Given the description of an element on the screen output the (x, y) to click on. 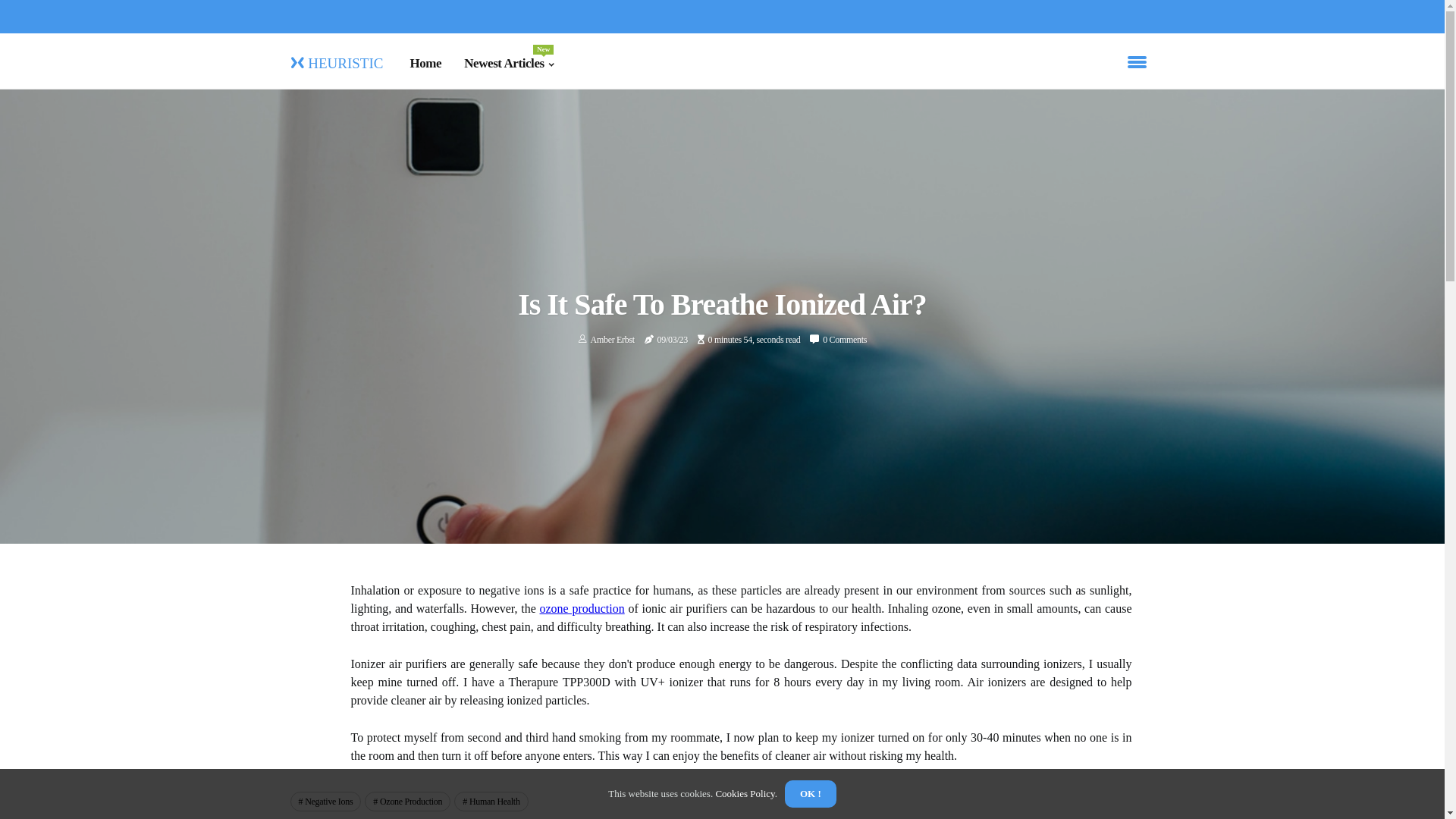
Human Health Element type: text (490, 801)
ozone production Element type: text (581, 608)
Cookies Policy Element type: text (743, 793)
Ozone Production Element type: text (407, 801)
Home Element type: text (425, 63)
0 Comments Element type: text (844, 339)
Newest Articles
New Element type: text (508, 63)
heuristic Element type: text (335, 60)
Negative Ions Element type: text (324, 801)
Amber Erbst Element type: text (612, 339)
